Given the description of an element on the screen output the (x, y) to click on. 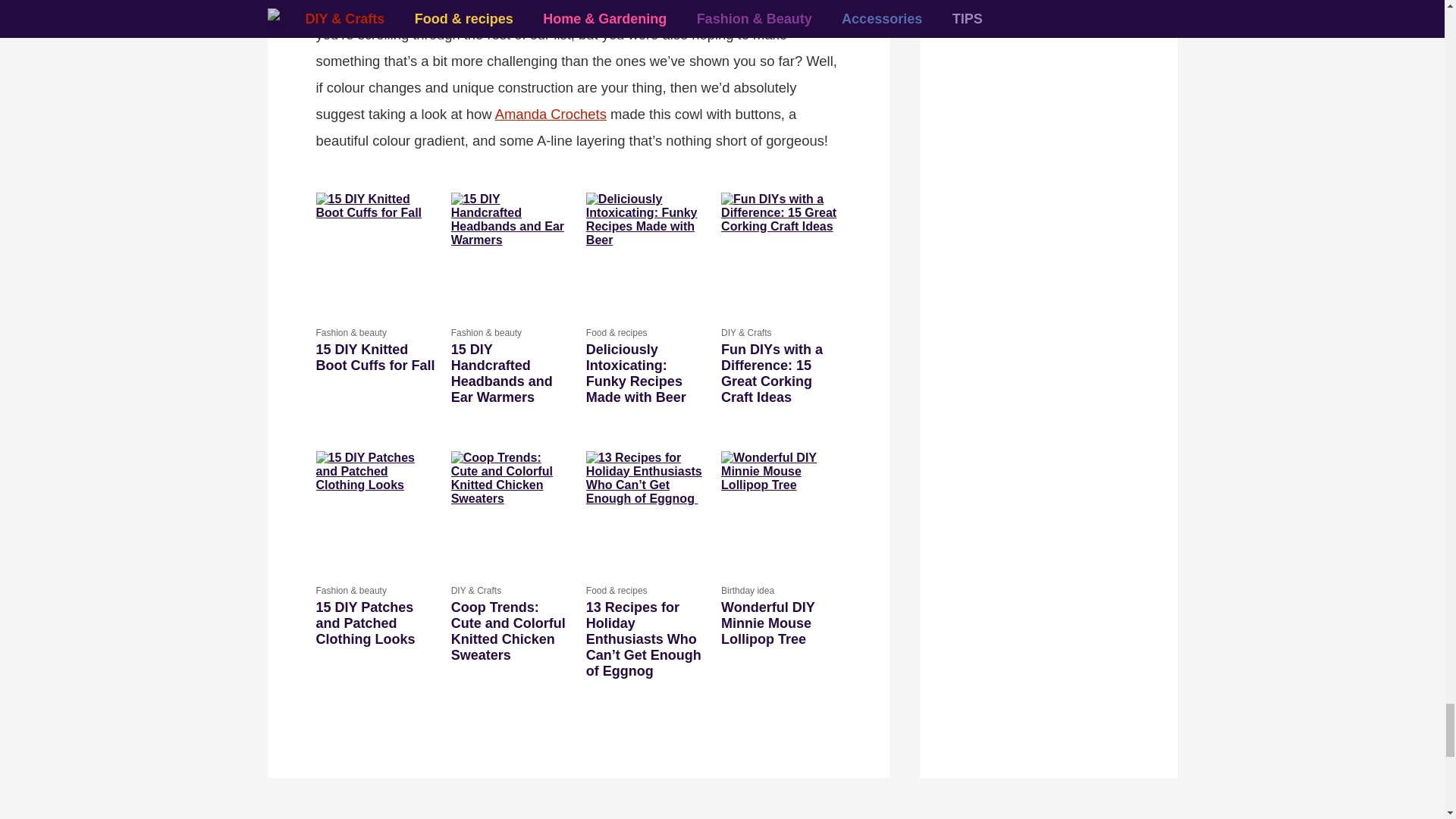
Fun DIYs with a Difference: 15 Great Corking Craft Ideas (780, 372)
15 DIY Patches and Patched Clothing Looks (374, 623)
Coop Trends: Cute and Colorful Knitted Chicken Sweaters (510, 631)
15 DIY Knitted Boot Cuffs for Fall (374, 252)
Fun DIYs with a Difference: 15 Great Corking Craft Ideas (780, 252)
15 DIY Patches and Patched Clothing Looks (374, 509)
Coop Trends: Cute and Colorful Knitted Chicken Sweaters (510, 509)
Deliciously Intoxicating: Funky Recipes Made with Beer (645, 252)
15 DIY Knitted Boot Cuffs for Fall (374, 357)
Deliciously Intoxicating: Funky Recipes Made with Beer (645, 372)
15 DIY Handcrafted Headbands and Ear Warmers (510, 252)
15 DIY Handcrafted Headbands and Ear Warmers (510, 372)
